Given the description of an element on the screen output the (x, y) to click on. 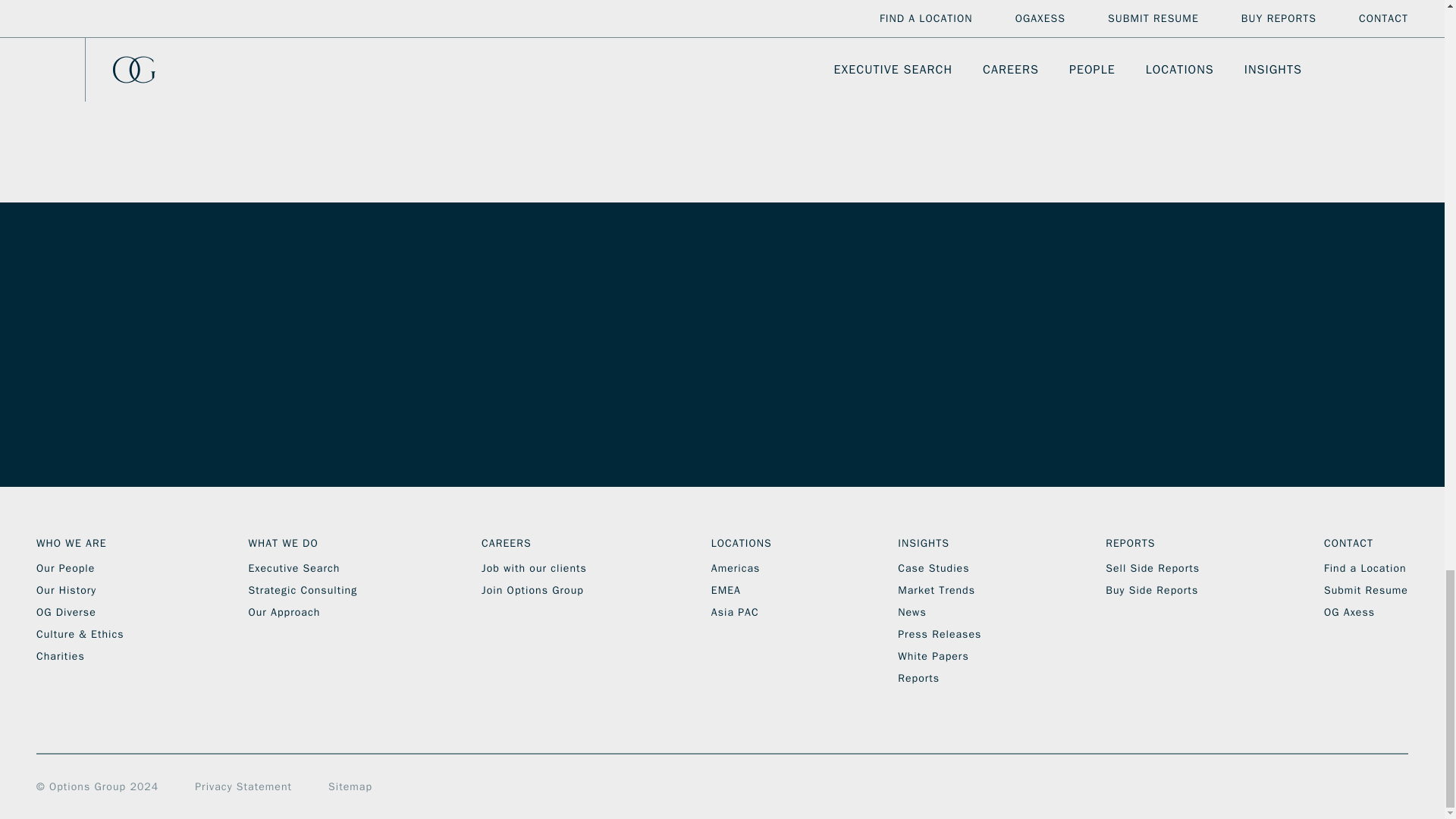
Follow us on Facebook (1265, 719)
Follow us on Twitter (1331, 719)
Follow us on LinkedIn (1298, 719)
